Given the description of an element on the screen output the (x, y) to click on. 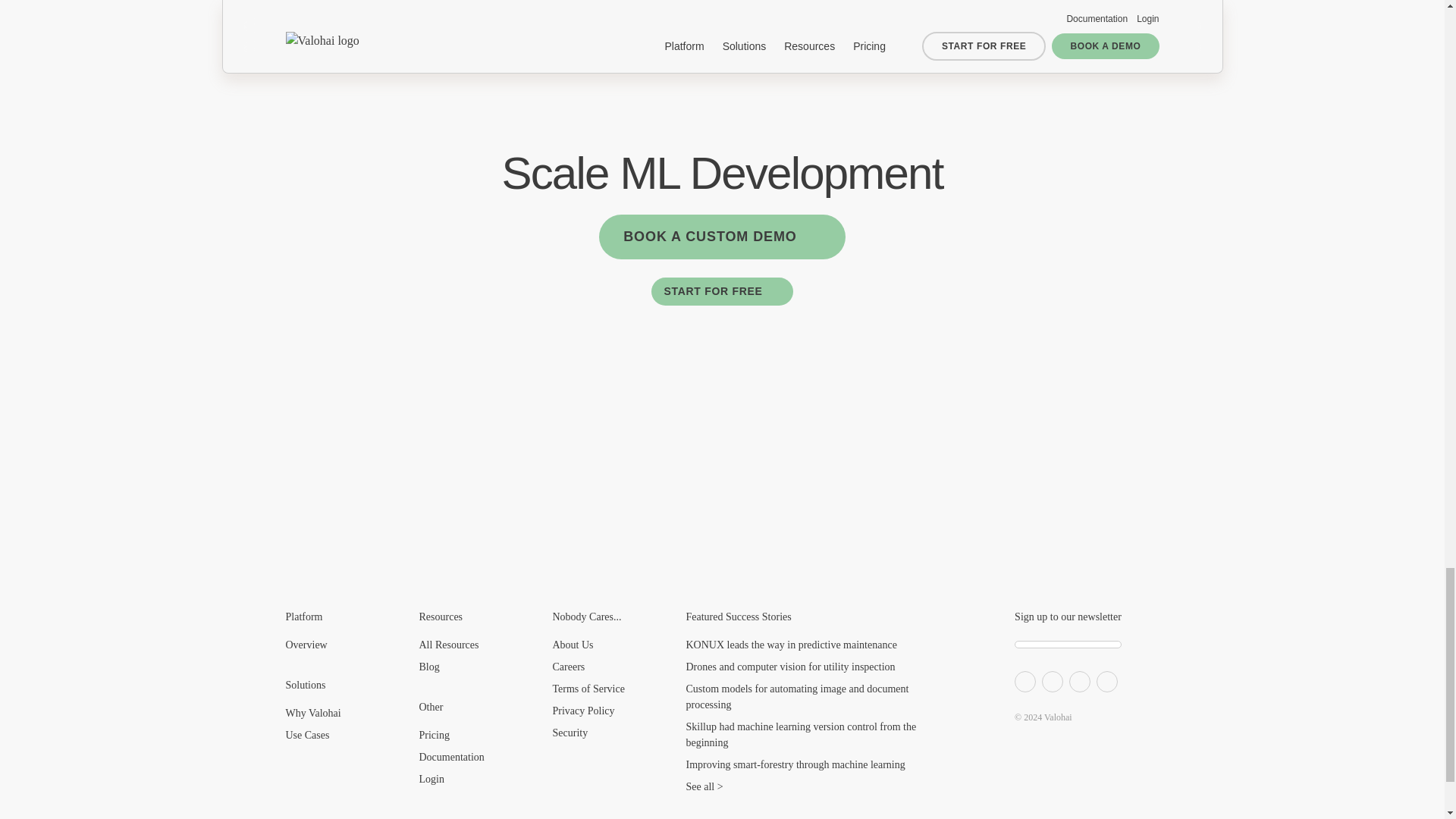
Drones and computer vision for utility inspection (790, 666)
Security (569, 732)
Custom models for automating image and document processing (796, 696)
Use Cases (307, 735)
About Us (571, 644)
BOOK A CUSTOM DEMO (721, 236)
KONUX leads the way in predictive maintenance (790, 644)
Pricing (433, 735)
All Resources (449, 644)
Login (431, 778)
